Given the description of an element on the screen output the (x, y) to click on. 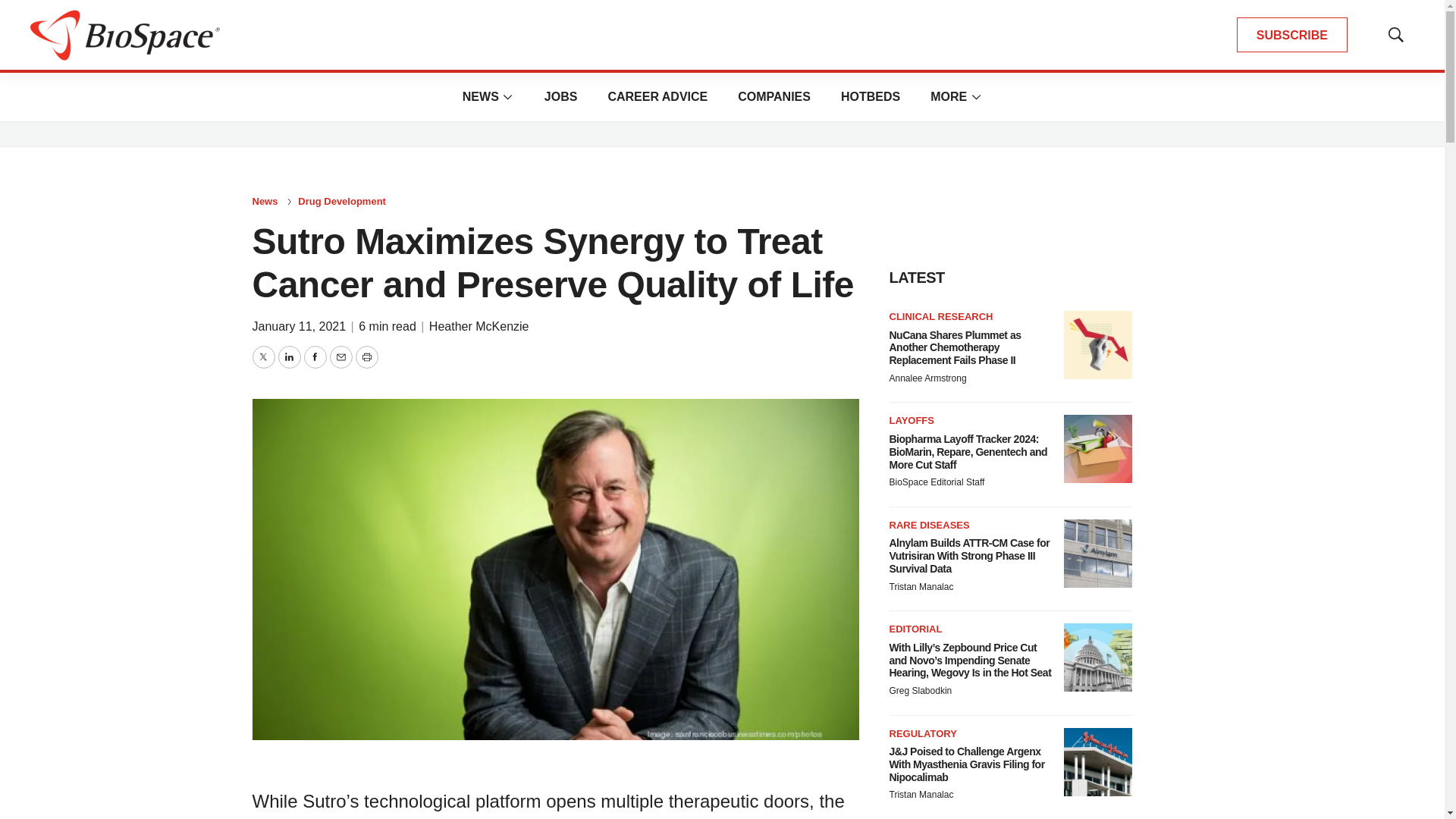
SUBSCRIBE (1292, 34)
NEWS (481, 96)
Show Search (1395, 34)
